Given the description of an element on the screen output the (x, y) to click on. 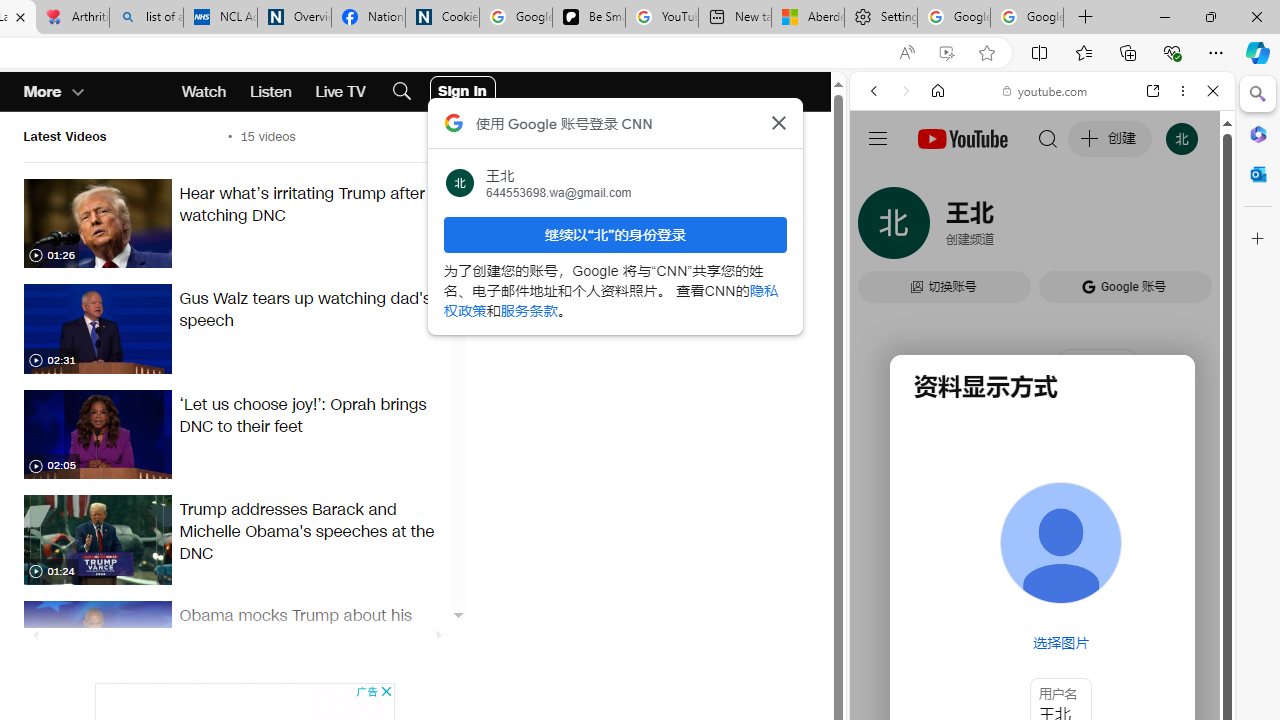
Class: icon-sig-video (34, 572)
Live TV (340, 92)
Music (1042, 543)
trumo.jpg (97, 539)
